Given the description of an element on the screen output the (x, y) to click on. 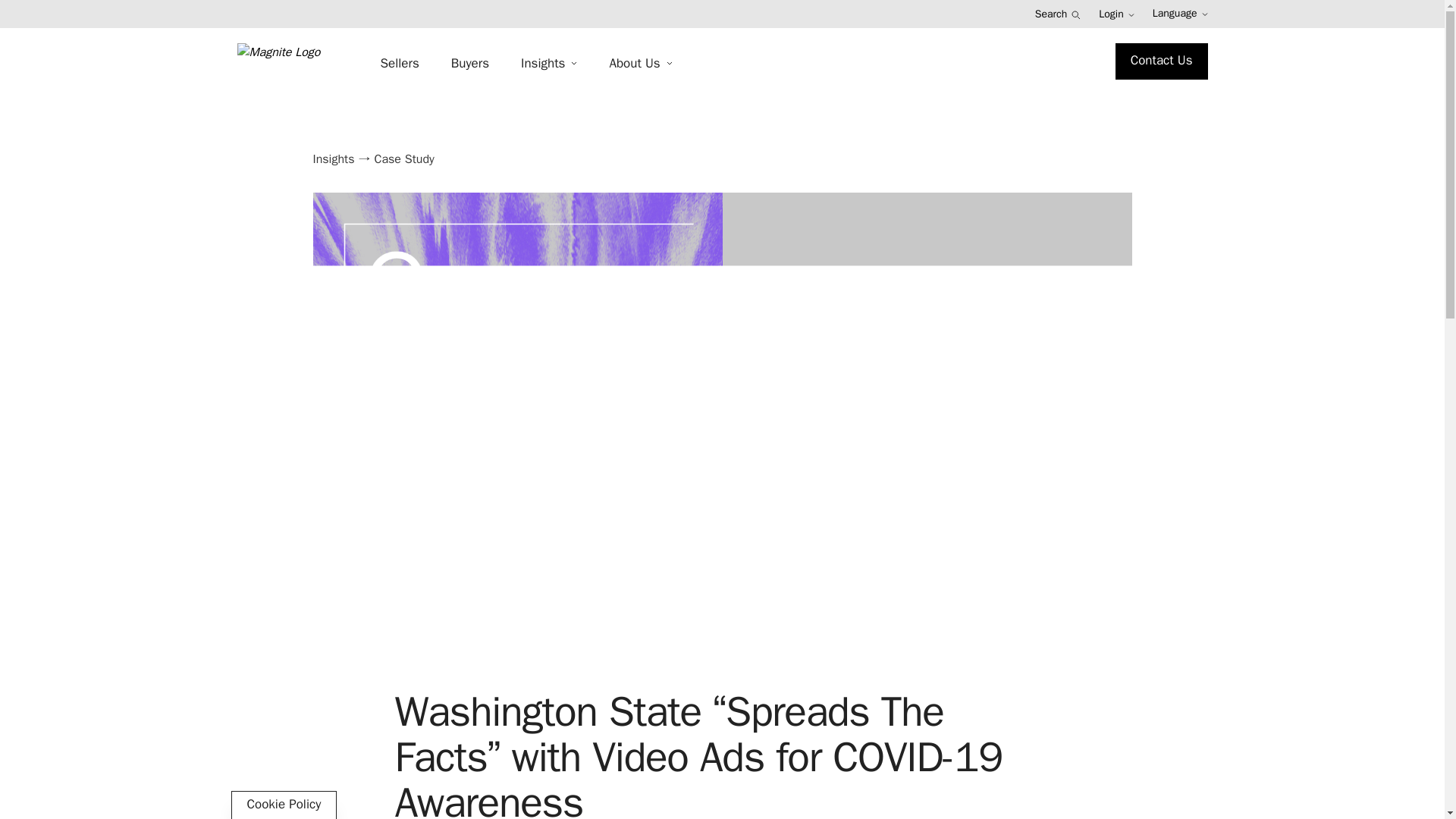
Insights (548, 63)
Search (1058, 14)
Sellers (399, 63)
Buyers (470, 63)
Login (1116, 14)
Language (1180, 13)
